Given the description of an element on the screen output the (x, y) to click on. 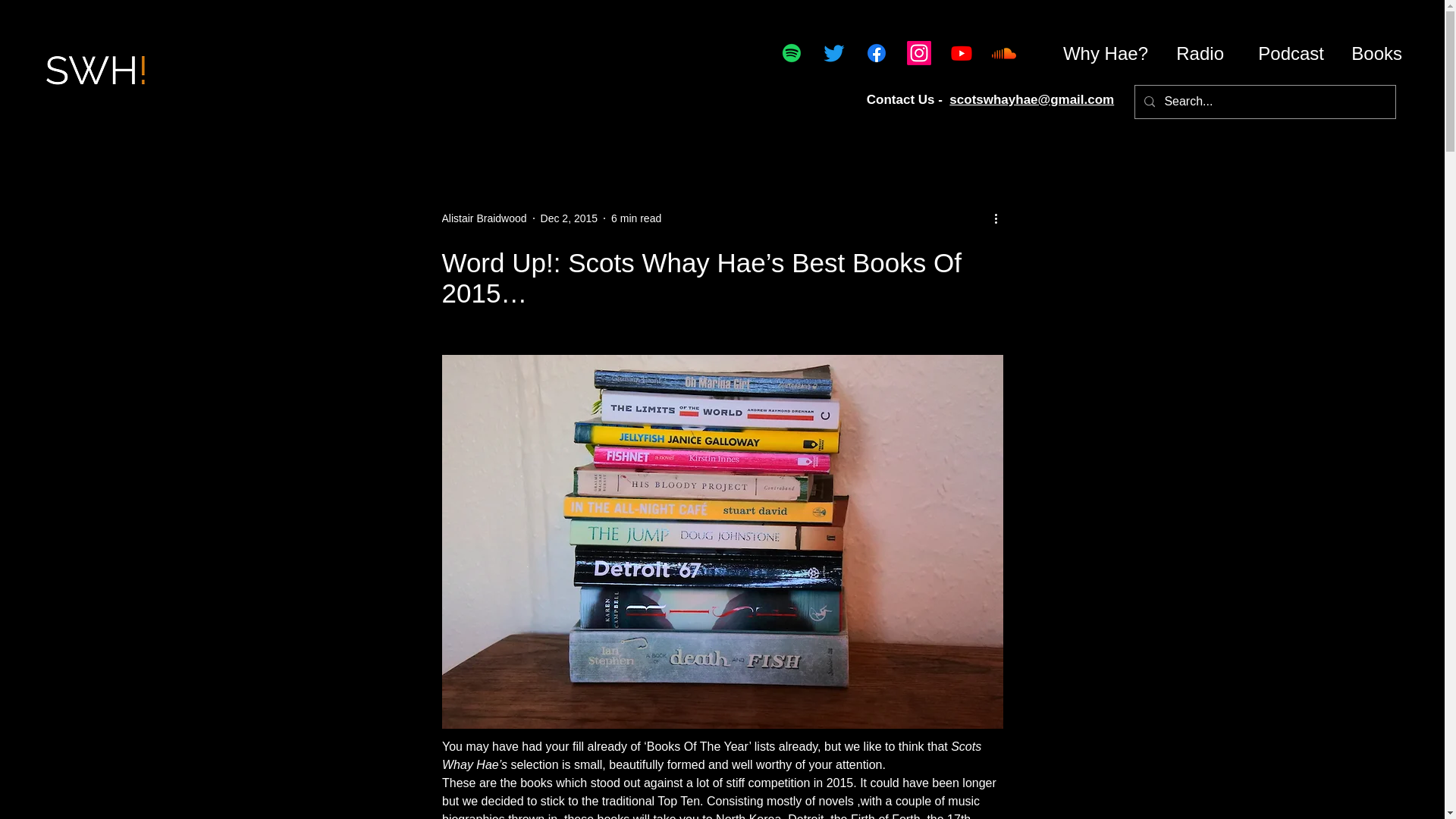
Dec 2, 2015 (569, 218)
Why Hae? (1100, 52)
Contact Us -   (908, 99)
Alistair Braidwood (483, 218)
6 min read (636, 218)
